Given the description of an element on the screen output the (x, y) to click on. 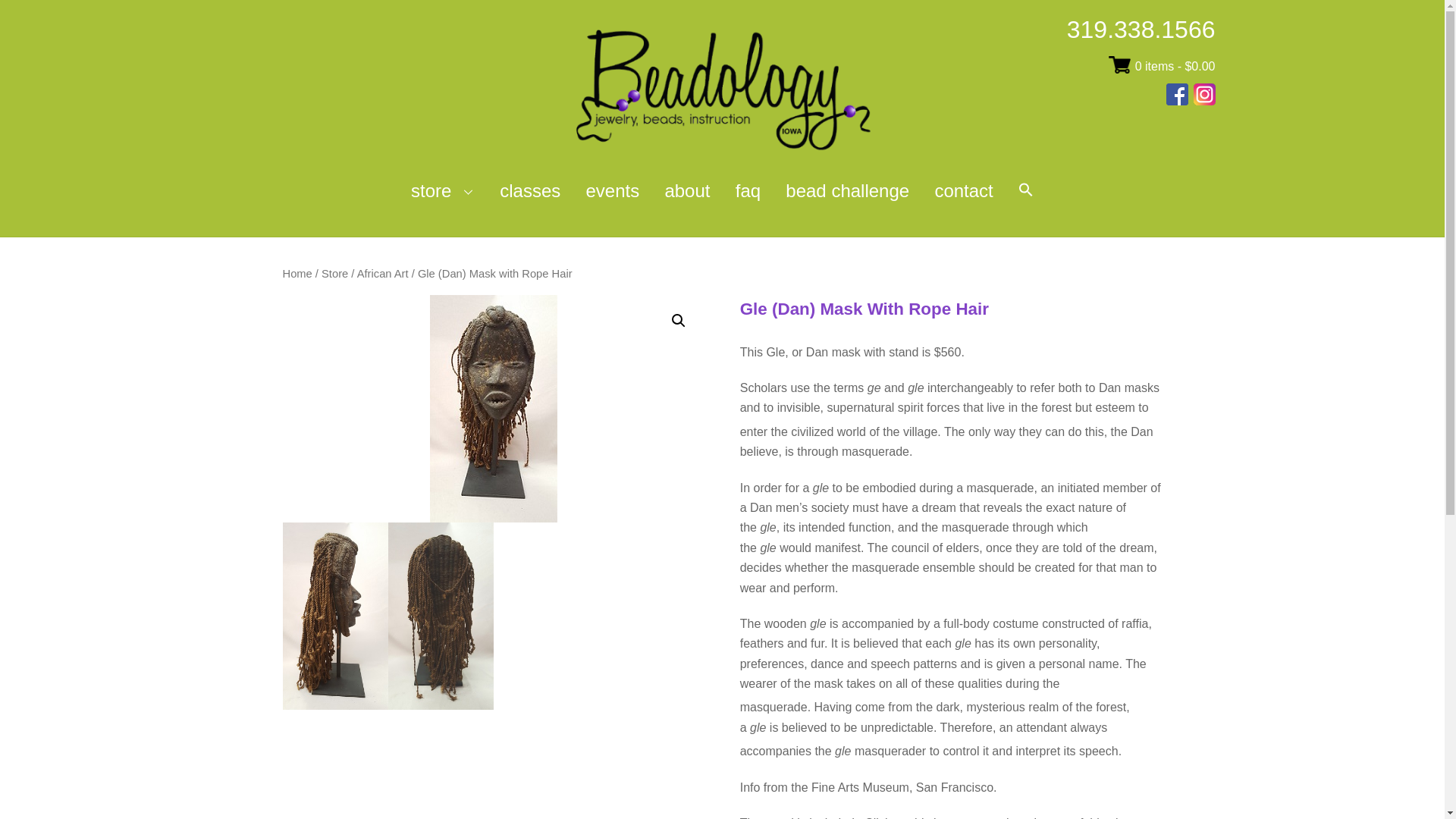
store (443, 191)
View your shopping cart (1175, 65)
Beadology Iowa (721, 146)
